Given the description of an element on the screen output the (x, y) to click on. 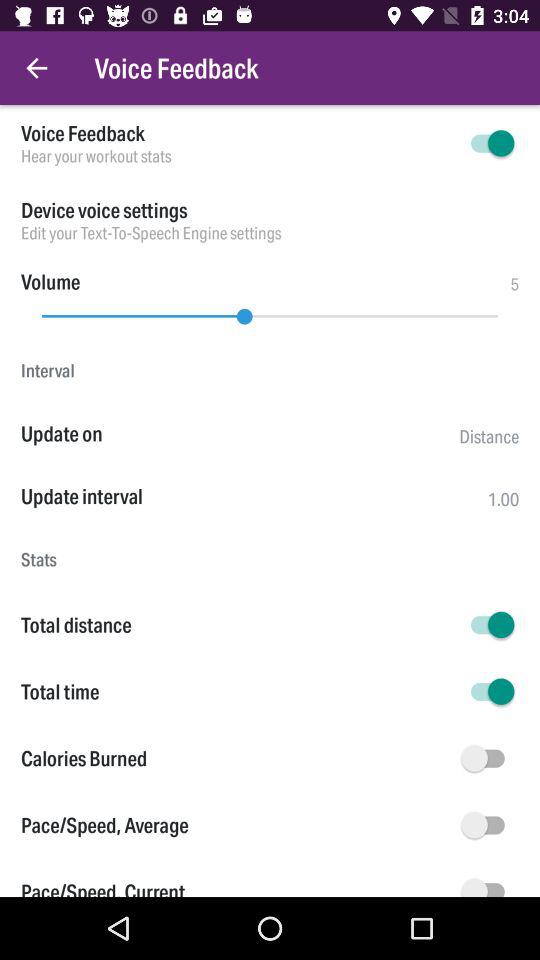
turn off the edit your text (270, 232)
